Given the description of an element on the screen output the (x, y) to click on. 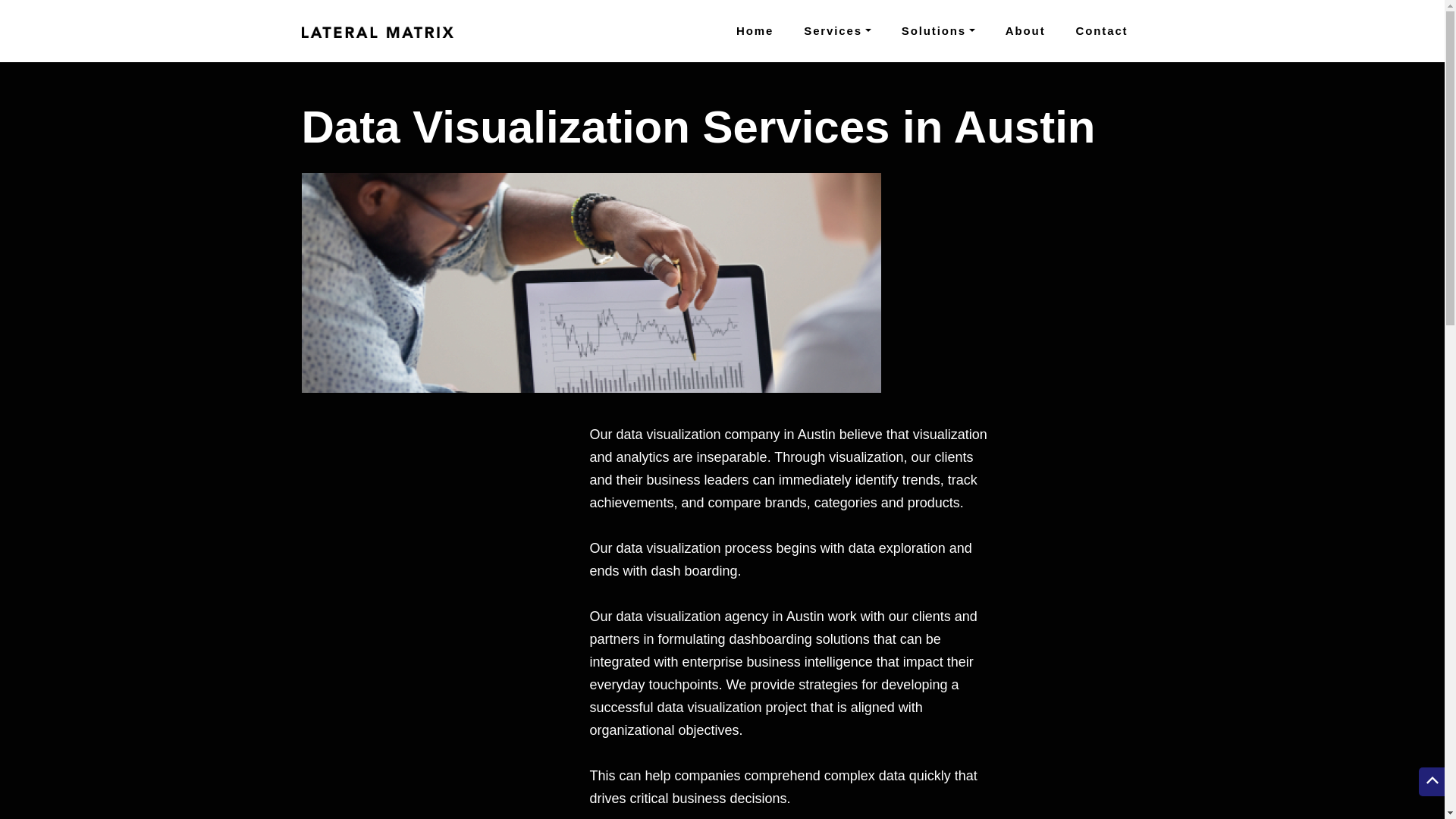
Solutions (938, 30)
Contact (1102, 30)
Services (837, 30)
